Given the description of an element on the screen output the (x, y) to click on. 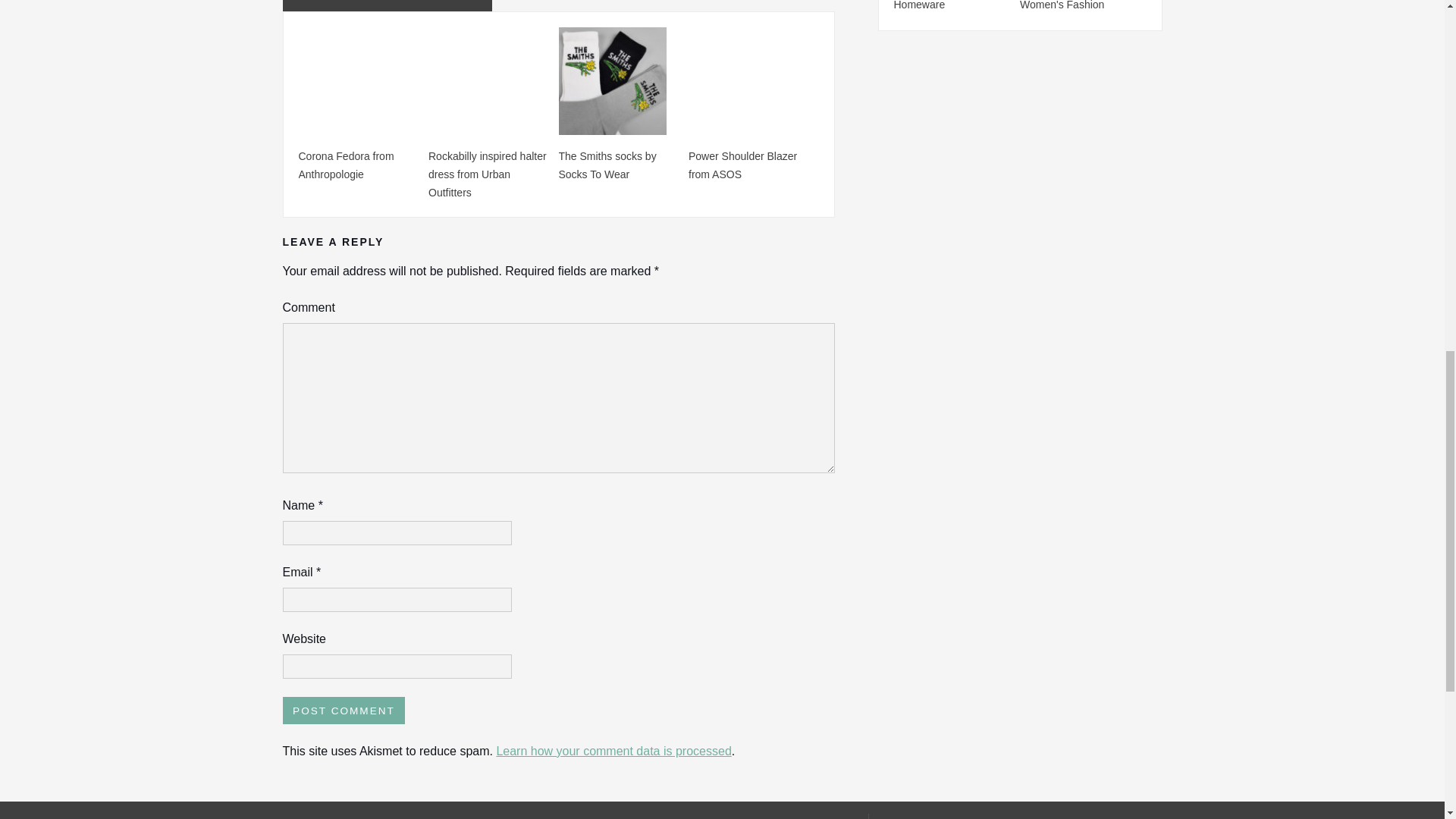
The Smiths socks by Socks To Wear (606, 164)
Rockabilly inspired halter dress from Urban Outfitters (487, 174)
Post Comment (343, 709)
Learn how your comment data is processed (613, 750)
Power Shoulder Blazer from ASOS (742, 164)
Corona Fedora from Anthropologie (346, 164)
Post Comment (343, 709)
